Given the description of an element on the screen output the (x, y) to click on. 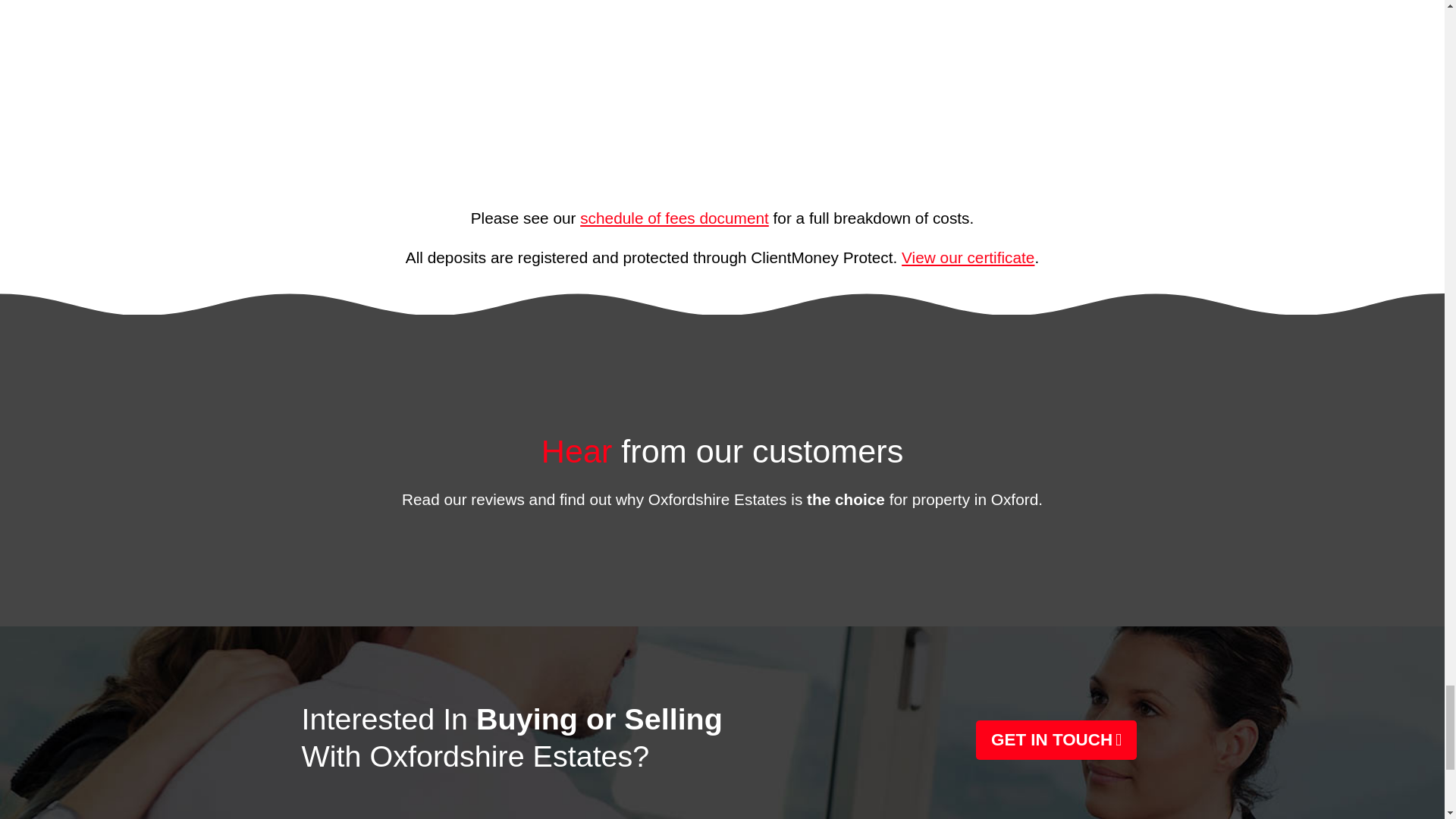
GET IN TOUCH (1056, 740)
View our certificate (967, 257)
schedule of fees document (673, 217)
